Given the description of an element on the screen output the (x, y) to click on. 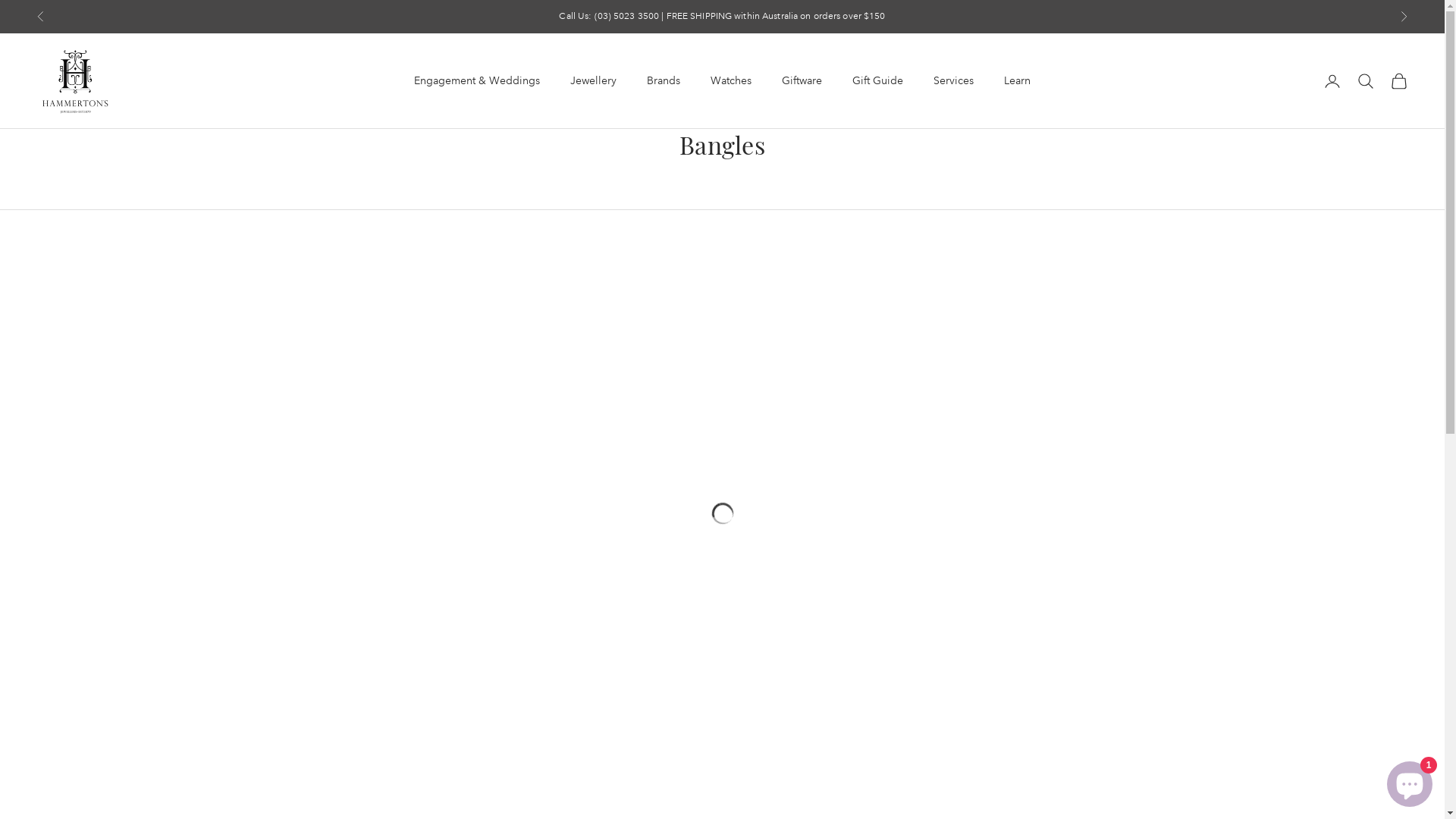
SHOP Element type: text (86, 101)
Next Element type: text (1403, 16)
Hammertons Jewellers Element type: text (74, 80)
HOME Element type: text (47, 101)
Shopify online store chat Element type: hover (1409, 780)
Open search Element type: text (1365, 81)
BANGLES Element type: text (132, 101)
Open cart Element type: text (1399, 81)
Open account page Element type: text (1332, 81)
Previous Element type: text (40, 16)
